Given the description of an element on the screen output the (x, y) to click on. 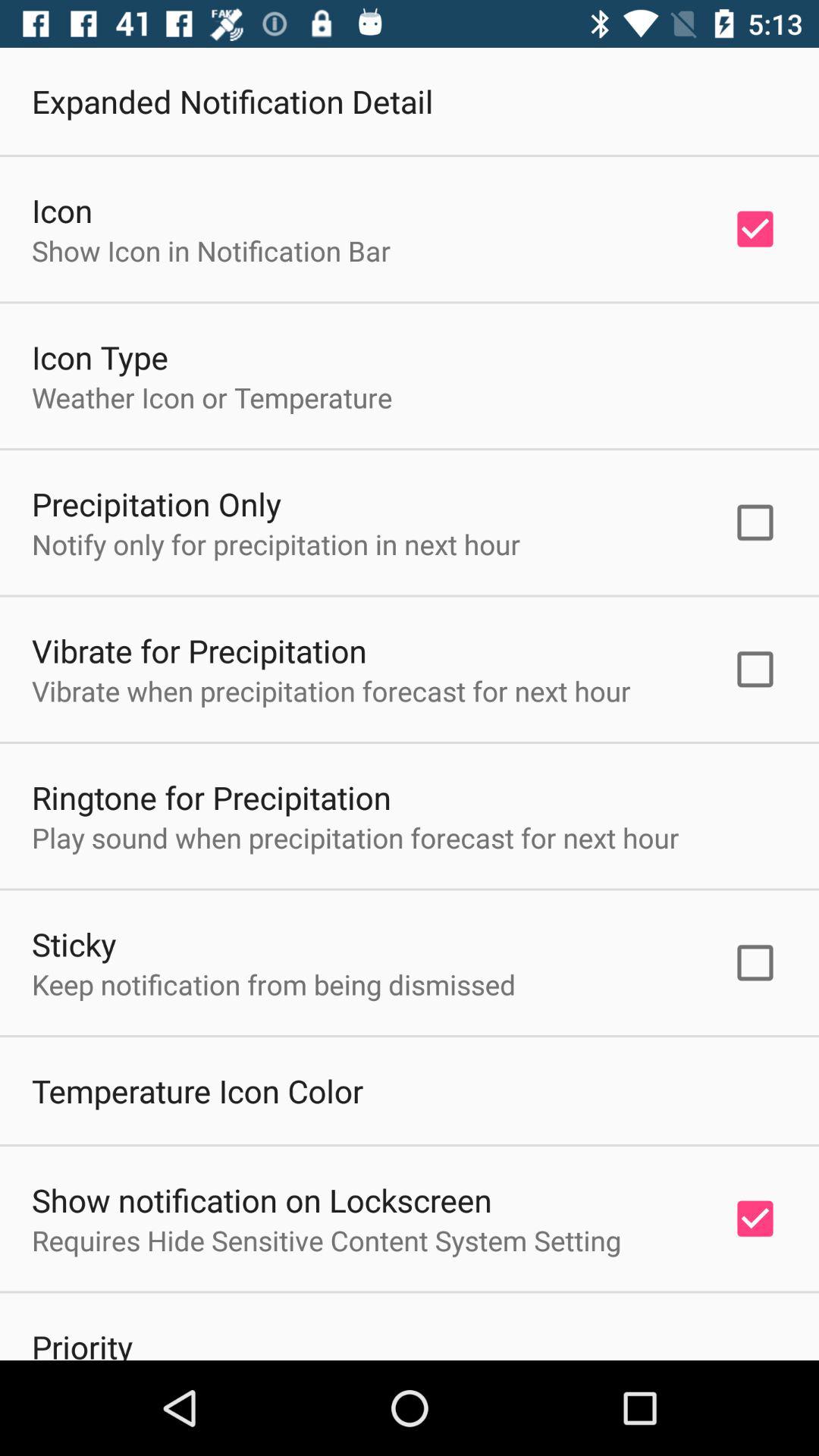
tap the icon below the sticky icon (273, 984)
